Given the description of an element on the screen output the (x, y) to click on. 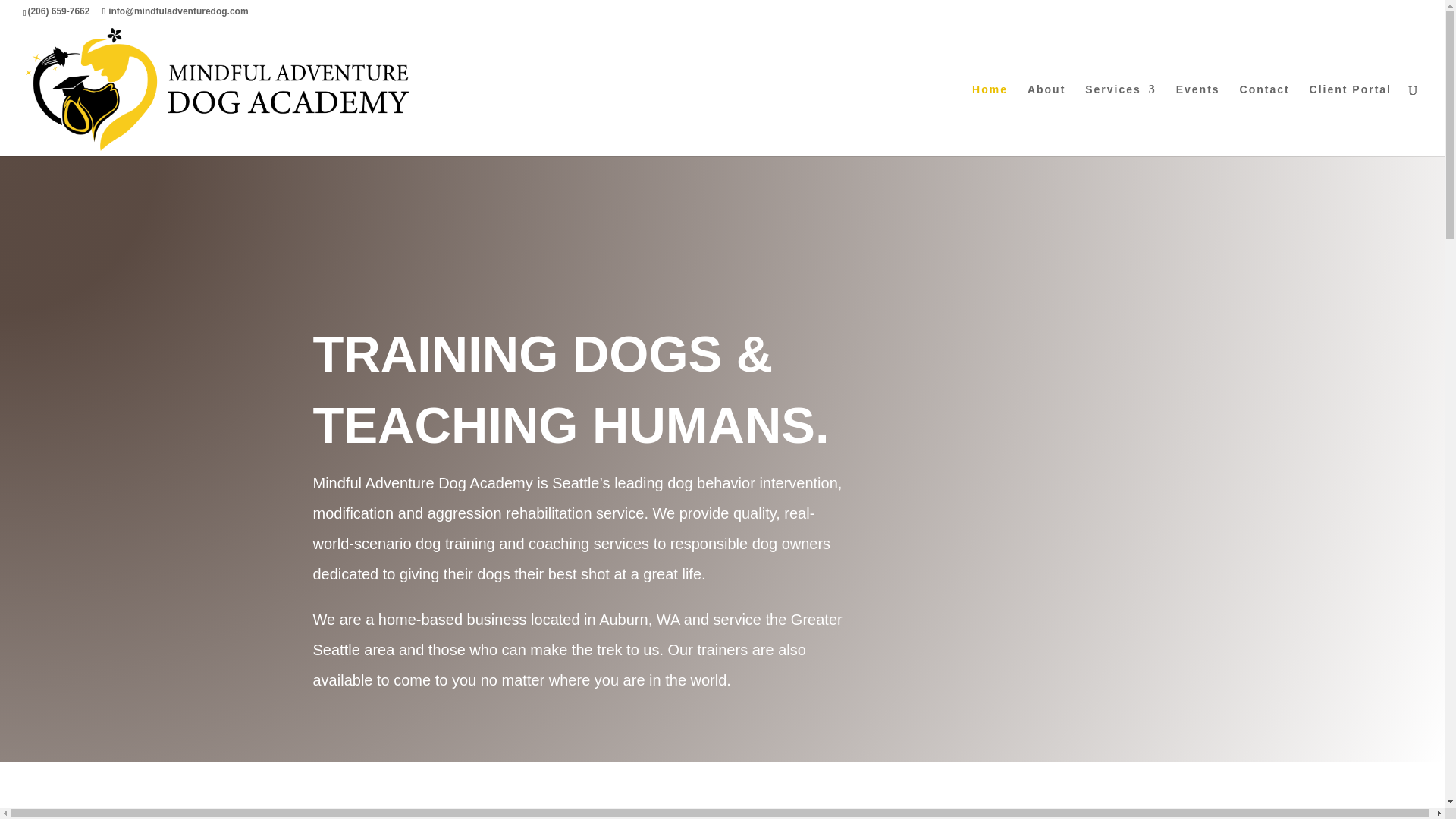
Client Portal (1349, 120)
Contact (1265, 120)
Services (1120, 120)
Events (1198, 120)
About (1046, 120)
Home (989, 120)
